Given the description of an element on the screen output the (x, y) to click on. 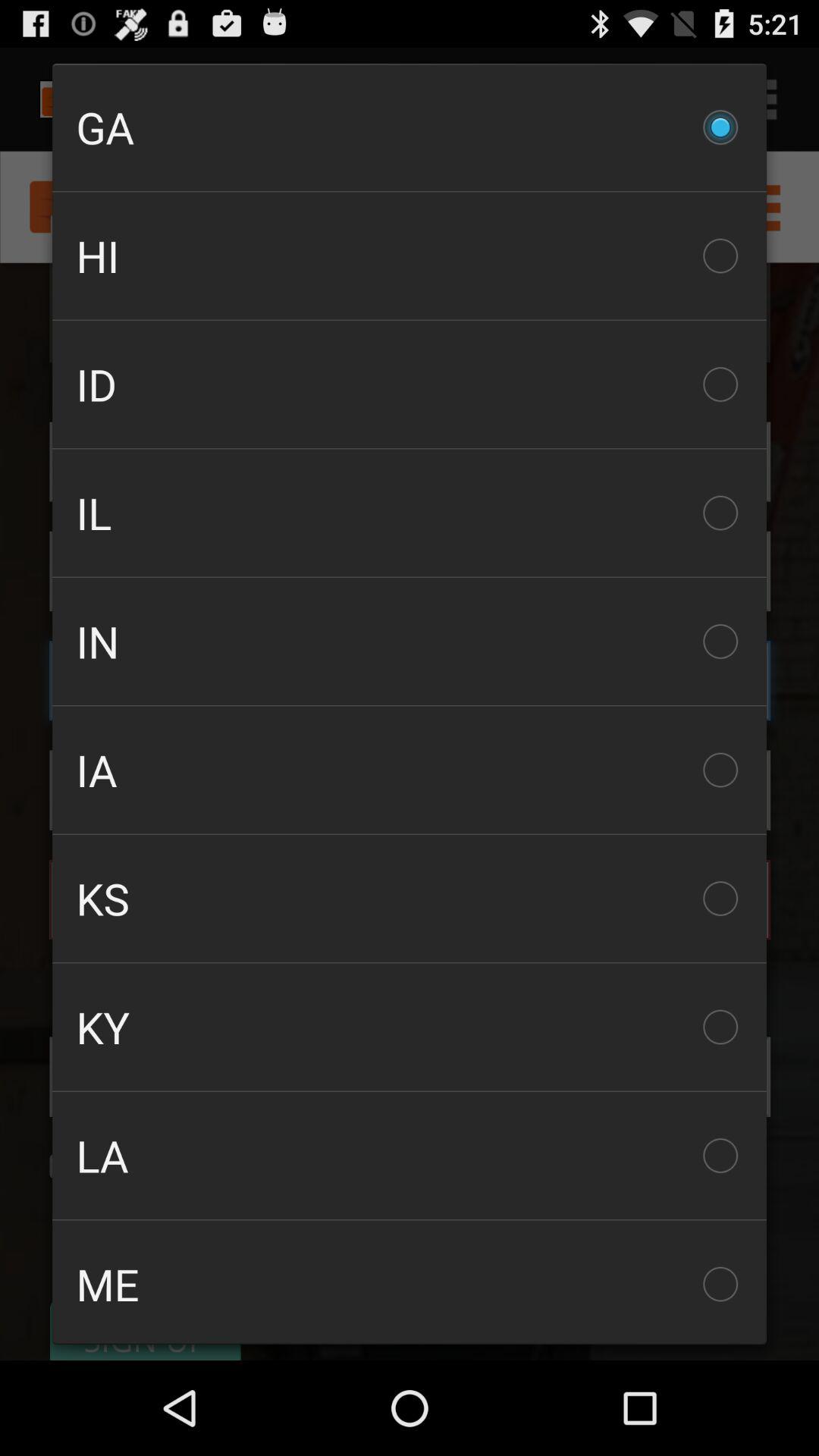
open the checkbox below the il (409, 641)
